Given the description of an element on the screen output the (x, y) to click on. 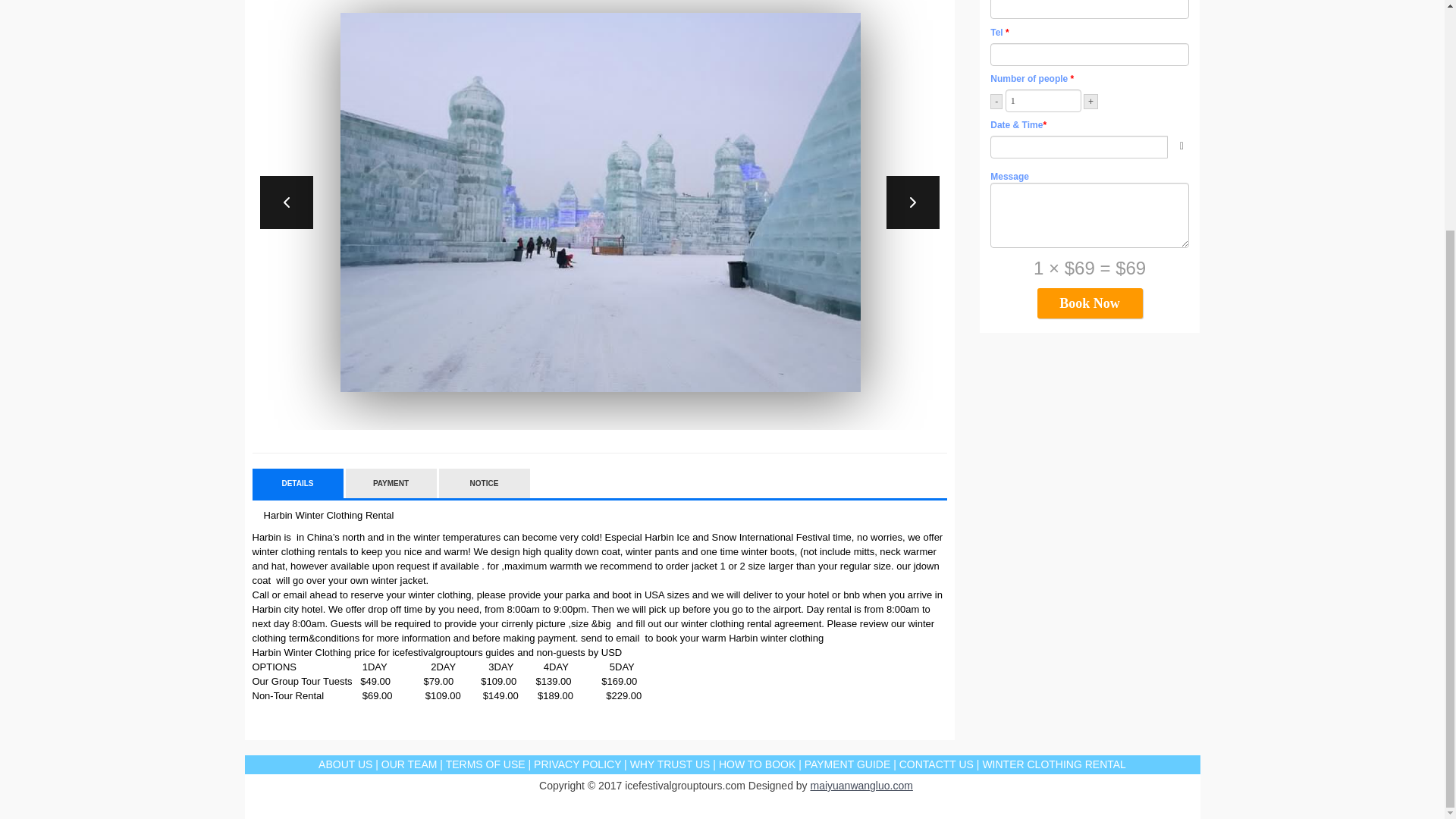
CONTACTT US (936, 764)
DETAILS (296, 482)
Book Now (1089, 303)
WINTER CLOTHING RENTAL (1053, 764)
NOTICE (483, 482)
PAYMENT (391, 482)
HOW TO BOOK (756, 764)
Book Now (1089, 303)
OUR TEAM (409, 764)
Previous (286, 202)
maiyuanwangluo.com (860, 785)
PRIVACY POLICY (577, 764)
ABOUT US (345, 764)
Next (912, 202)
TERMS OF USE (485, 764)
